Given the description of an element on the screen output the (x, y) to click on. 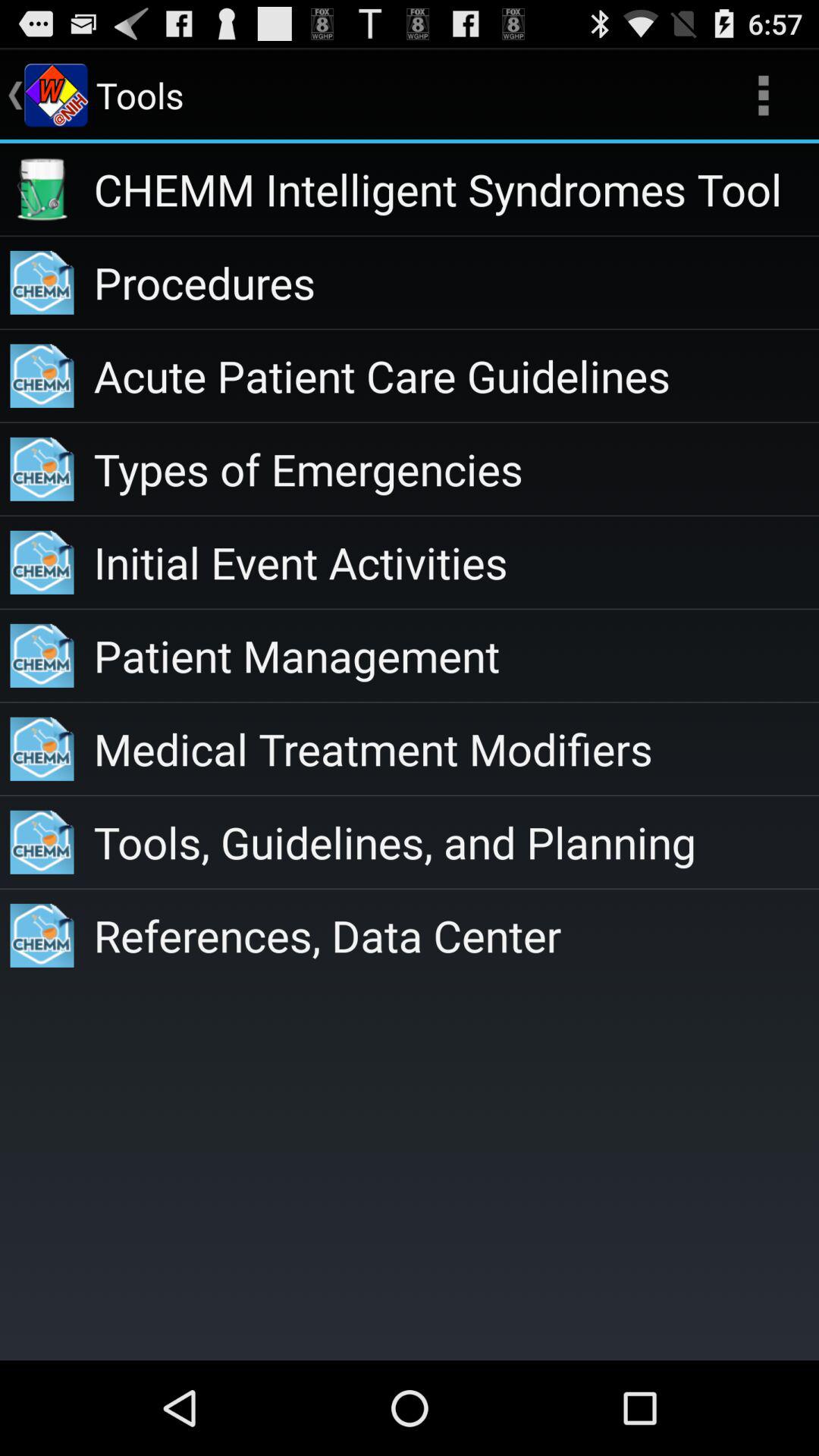
jump to acute patient care (456, 375)
